Given the description of an element on the screen output the (x, y) to click on. 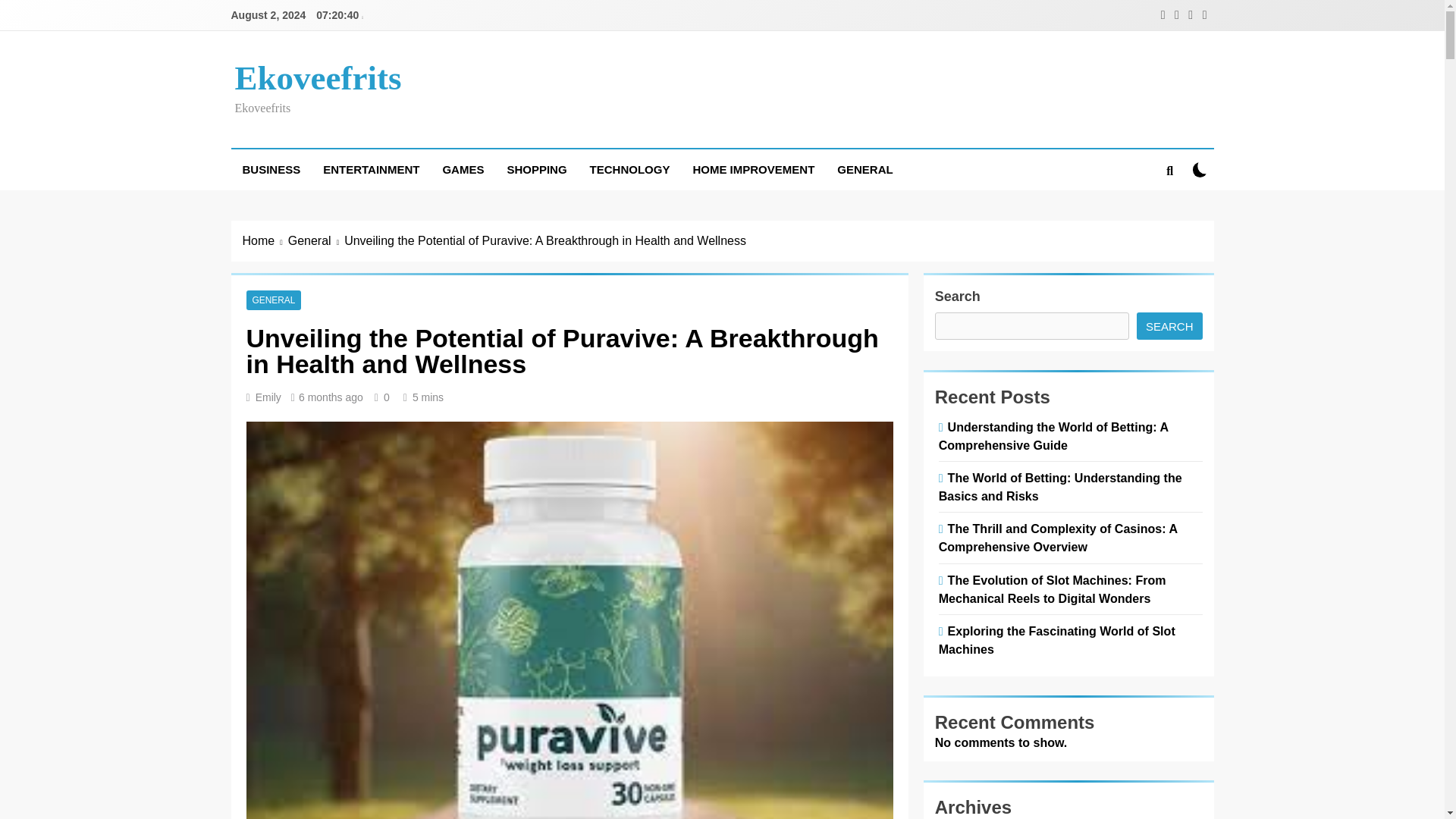
Emily (268, 397)
BUSINESS (270, 169)
General (315, 240)
Understanding the World of Betting: A Comprehensive Guide (1054, 436)
ENTERTAINMENT (370, 169)
HOME IMPROVEMENT (753, 169)
Ekoveefrits (317, 77)
GENERAL (273, 299)
SHOPPING (536, 169)
The World of Betting: Understanding the Basics and Risks (1060, 486)
